Given the description of an element on the screen output the (x, y) to click on. 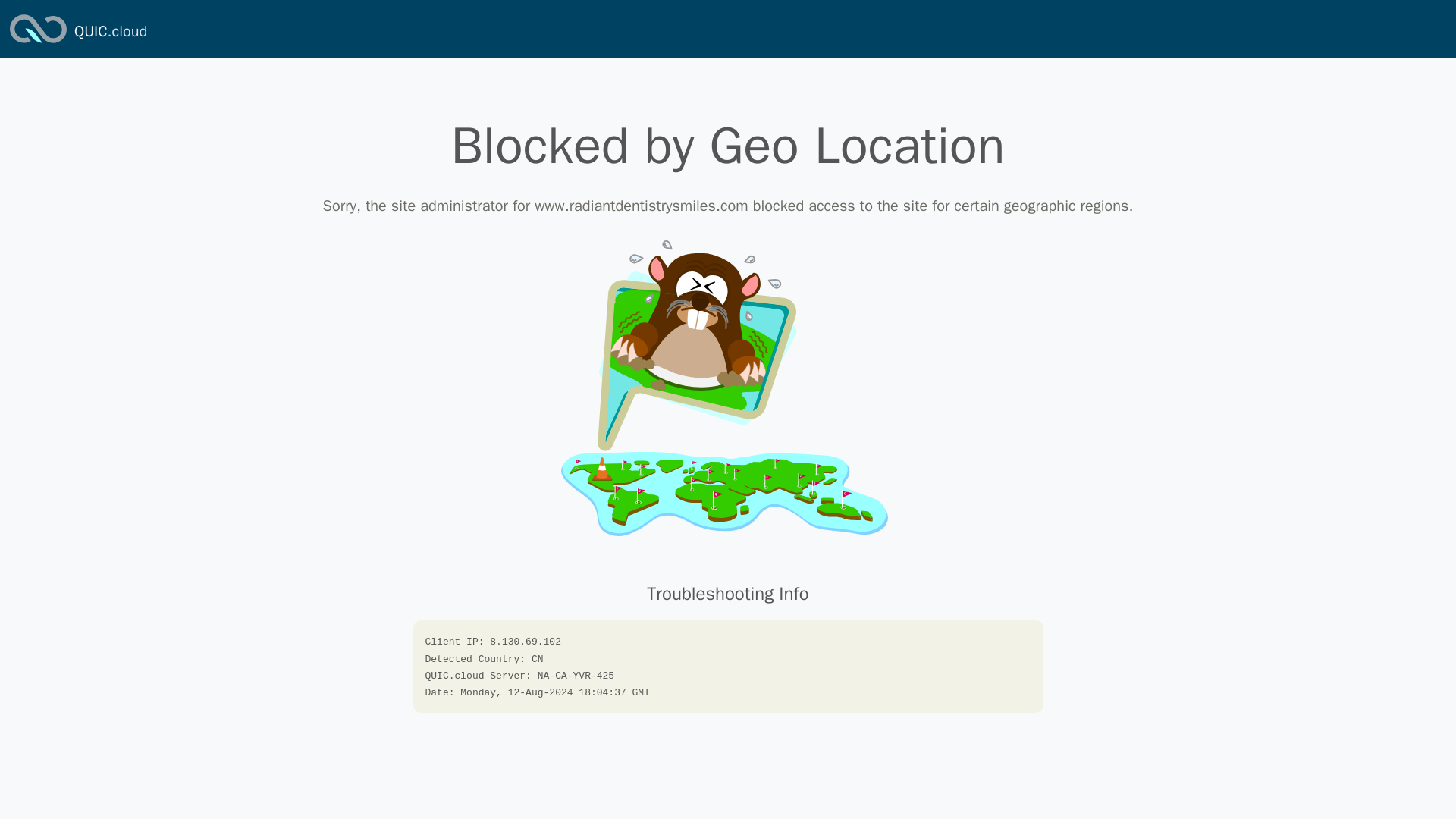
QUIC.cloud (110, 31)
QUIC.cloud (110, 31)
QUIC.cloud (37, 43)
